Given the description of an element on the screen output the (x, y) to click on. 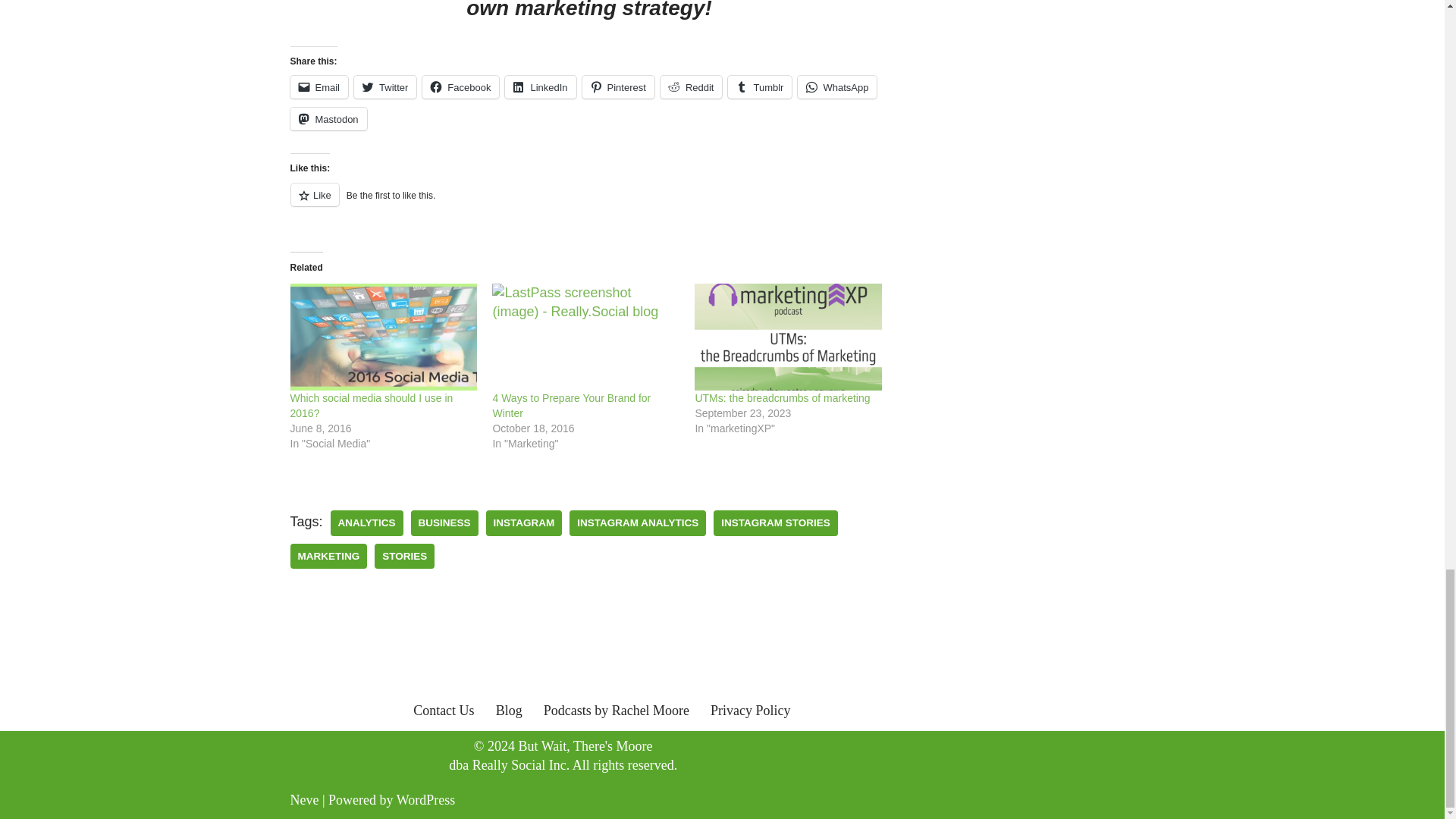
UTMs: the breadcrumbs of marketing (788, 336)
Click to share on Twitter (384, 87)
Click to share on Facebook (460, 87)
Click to email a link to a friend (318, 87)
Click to share on Tumblr (760, 87)
4 Ways to Prepare Your Brand for Winter (571, 405)
Click to share on Pinterest (617, 87)
Click to share on WhatsApp (836, 87)
Click to share on Mastodon (327, 118)
Click to share on LinkedIn (540, 87)
Which social media should I use in 2016? (383, 336)
4 Ways to Prepare Your Brand for Winter (585, 336)
Which social media should I use in 2016? (370, 405)
Like or Reblog (588, 203)
Click to share on Reddit (691, 87)
